Given the description of an element on the screen output the (x, y) to click on. 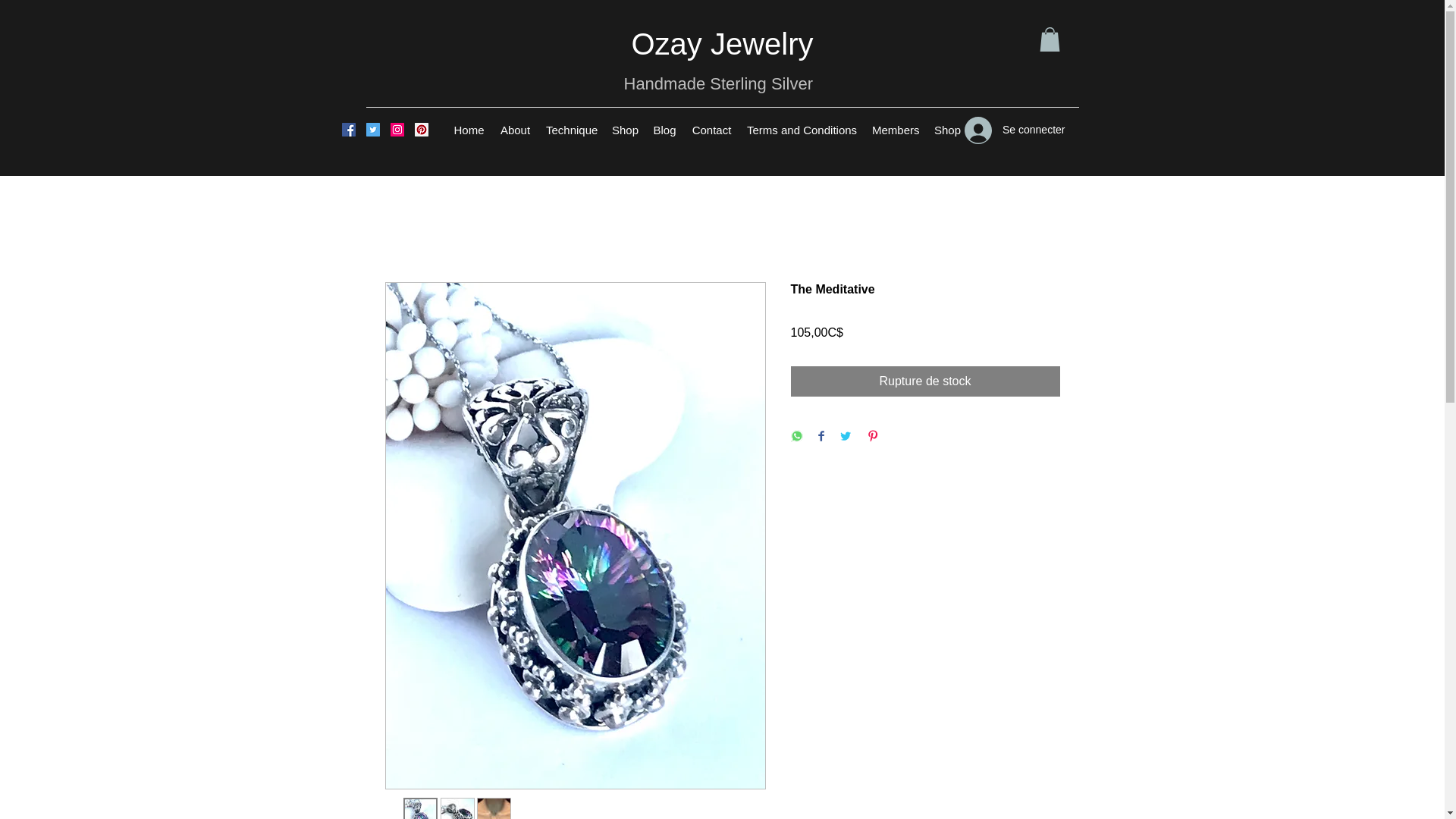
Blog (664, 129)
Ozay Jewelry (721, 43)
Contact (711, 129)
Shop (947, 129)
About (515, 129)
Shop (624, 129)
Members (895, 129)
Technique (571, 129)
Home (468, 129)
Rupture de stock (924, 381)
Se connecter (1014, 130)
Terms and Conditions (801, 129)
